Given the description of an element on the screen output the (x, y) to click on. 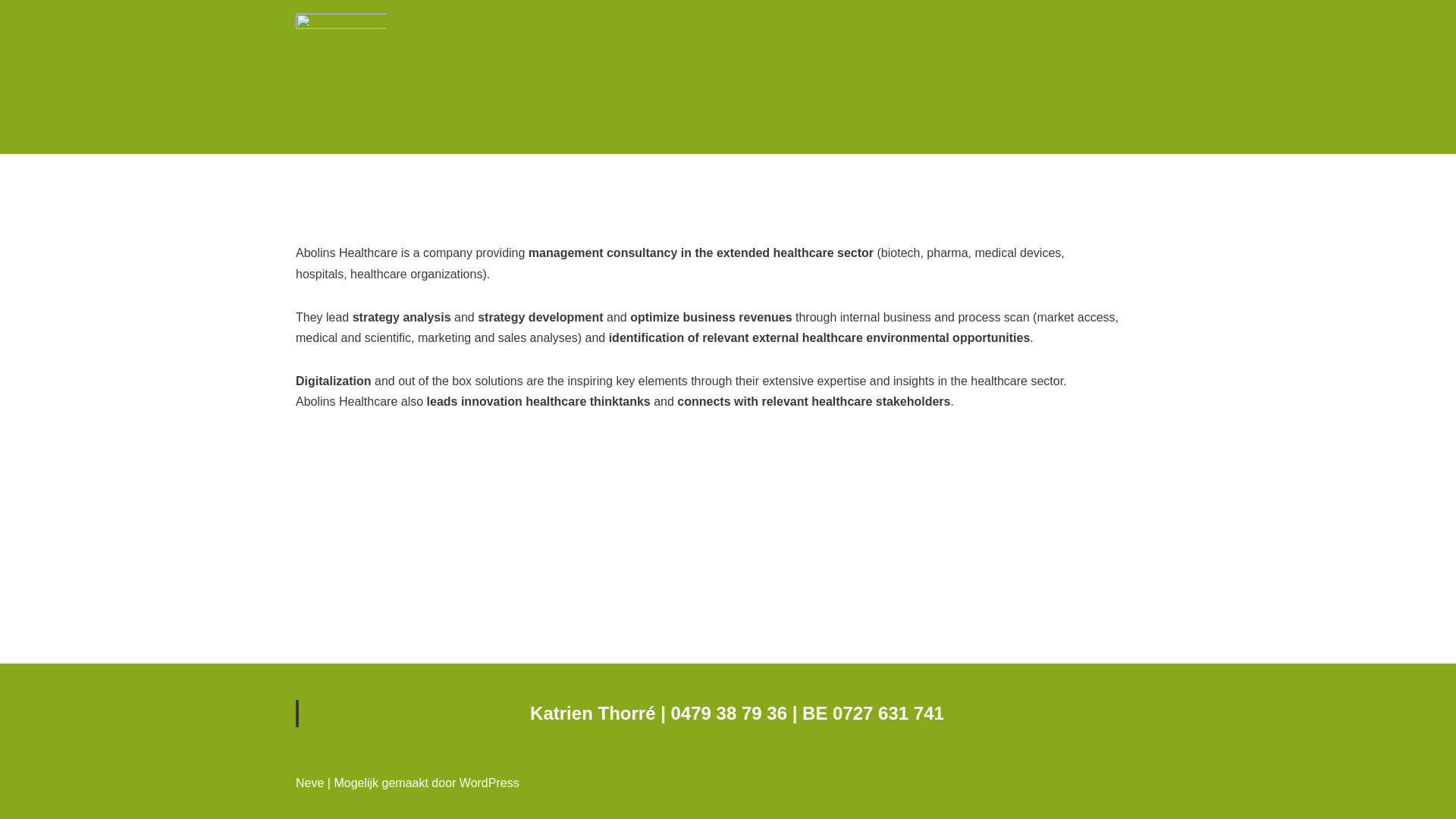
3 Element type: text (742, 196)
2 Element type: text (727, 196)
1 Element type: text (712, 196)
Ga naar de inhoud Element type: text (11, 31)
WordPress Element type: text (489, 782)
Neve Element type: text (309, 782)
